Given the description of an element on the screen output the (x, y) to click on. 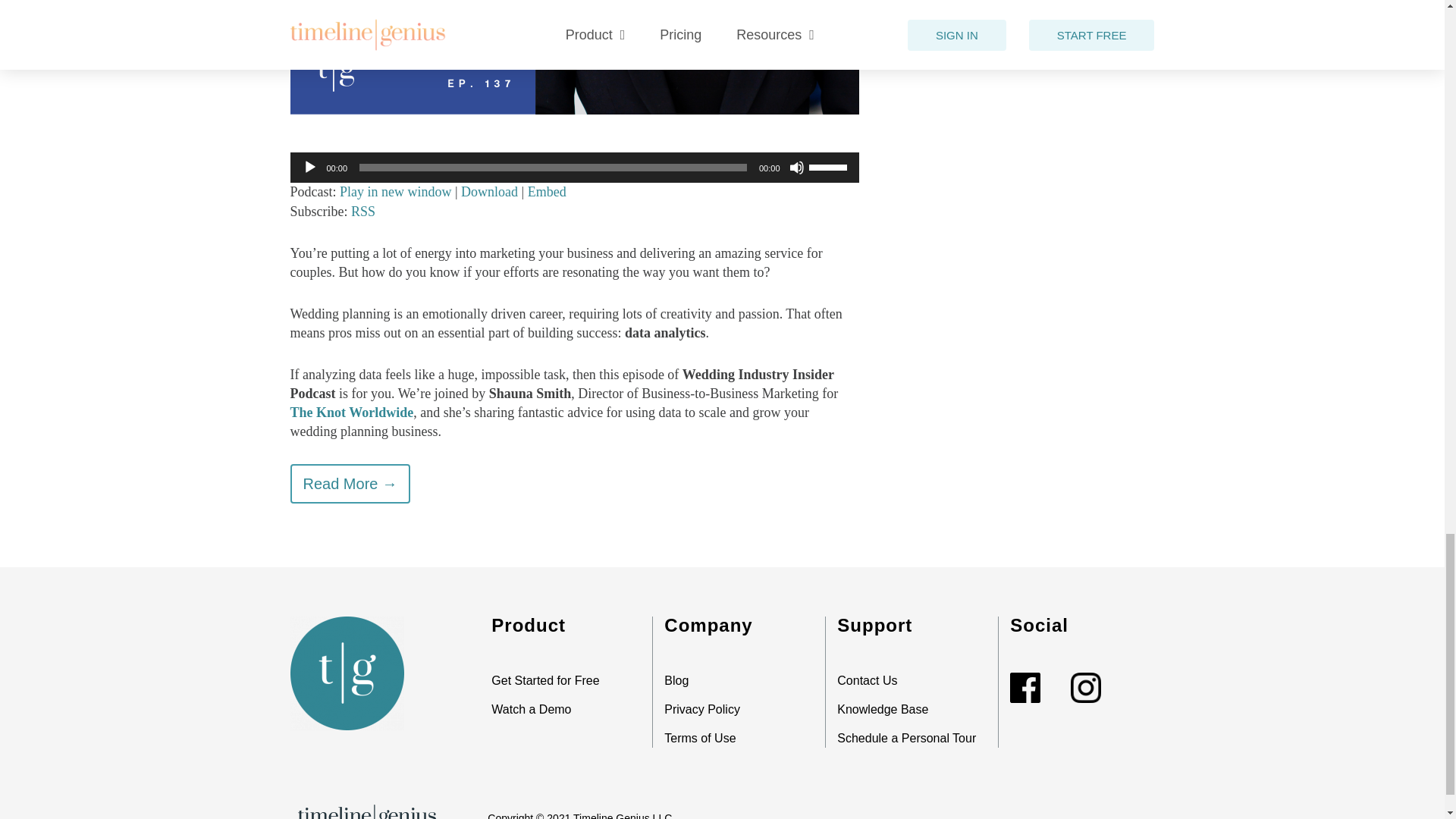
Embed (546, 191)
Subscribe via RSS (362, 211)
Download (489, 191)
Play (309, 167)
Mute (796, 167)
Play in new window (395, 191)
